Given the description of an element on the screen output the (x, y) to click on. 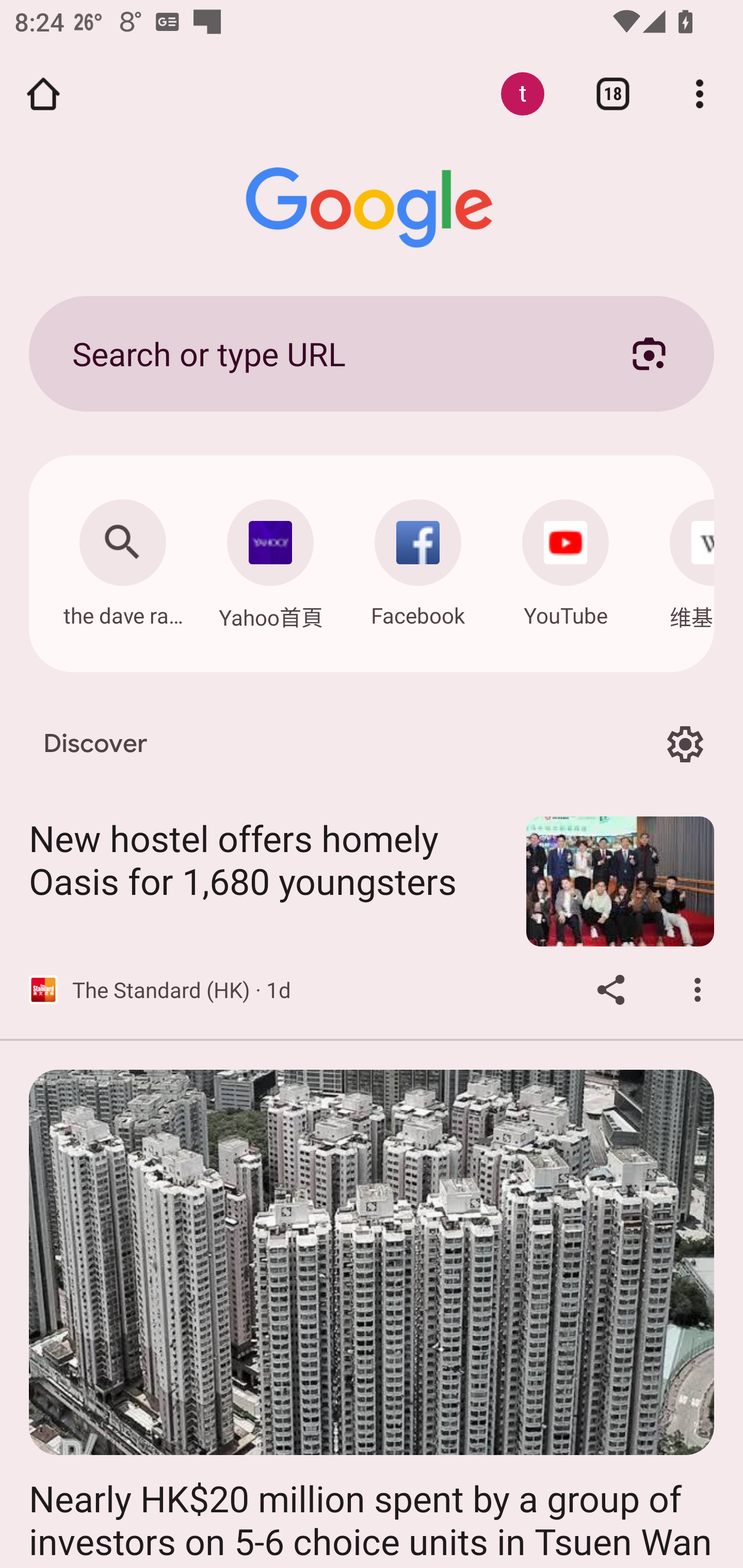
Open the home page (43, 93)
Switch or close tabs (612, 93)
Customize and control Google Chrome (699, 93)
Search or type URL (327, 353)
Search with your camera using Google Lens (648, 353)
Search: the dave ramsey show the dave ramsey show (122, 558)
Navigate: Yahoo首頁: hk.mobi.yahoo.com Yahoo首頁 (270, 558)
Navigate: Facebook: m.facebook.com Facebook (417, 558)
Navigate: YouTube: m.youtube.com YouTube (565, 558)
Options for Discover (684, 743)
